Given the description of an element on the screen output the (x, y) to click on. 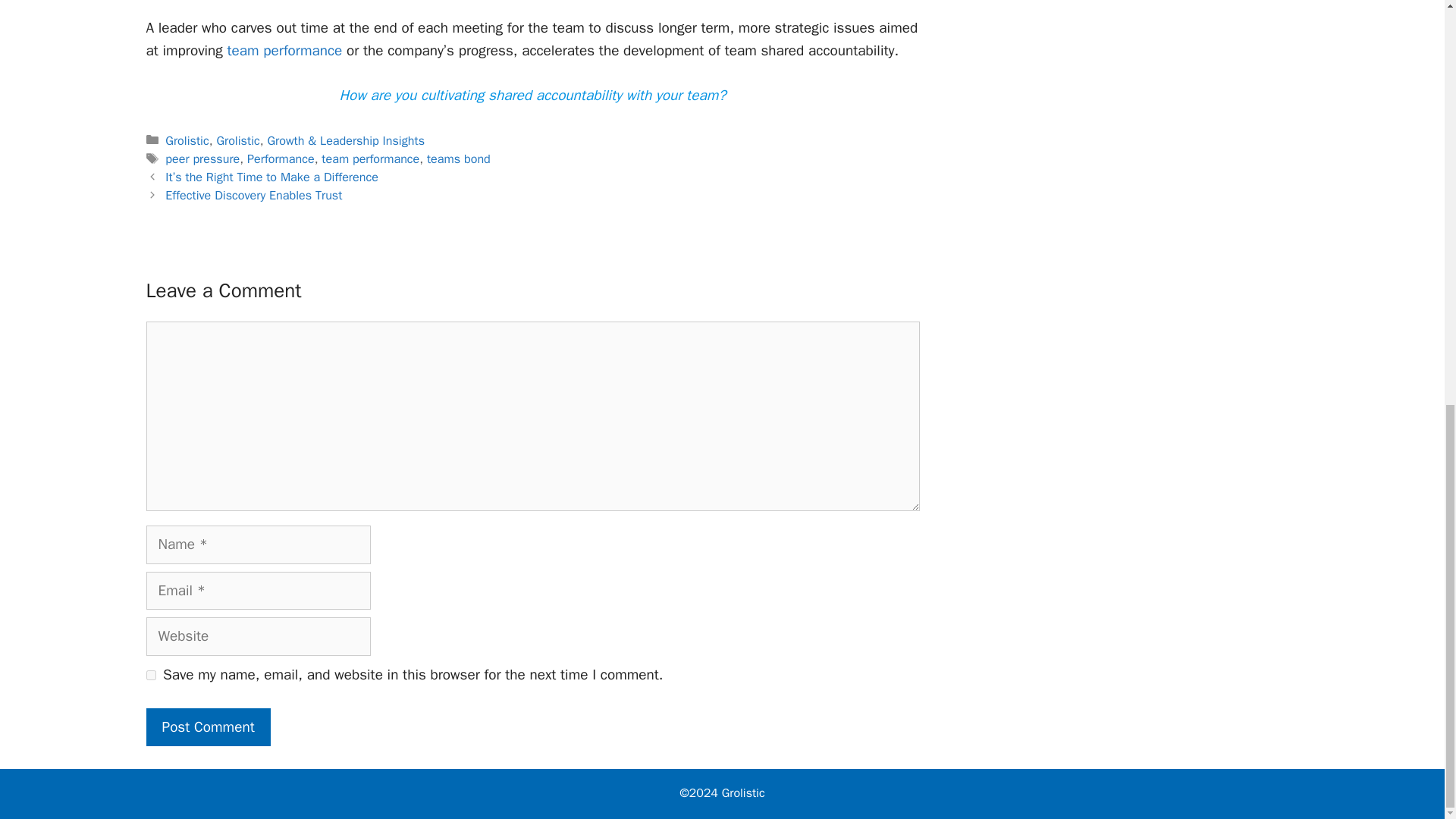
Grolistic (186, 140)
Post Comment (207, 727)
Performance (280, 158)
yes (150, 675)
teams bond (458, 158)
Effective Discovery Enables Trust (253, 195)
Grolistic (237, 140)
peer pressure (202, 158)
team performance (284, 50)
Post Comment (207, 727)
